Given the description of an element on the screen output the (x, y) to click on. 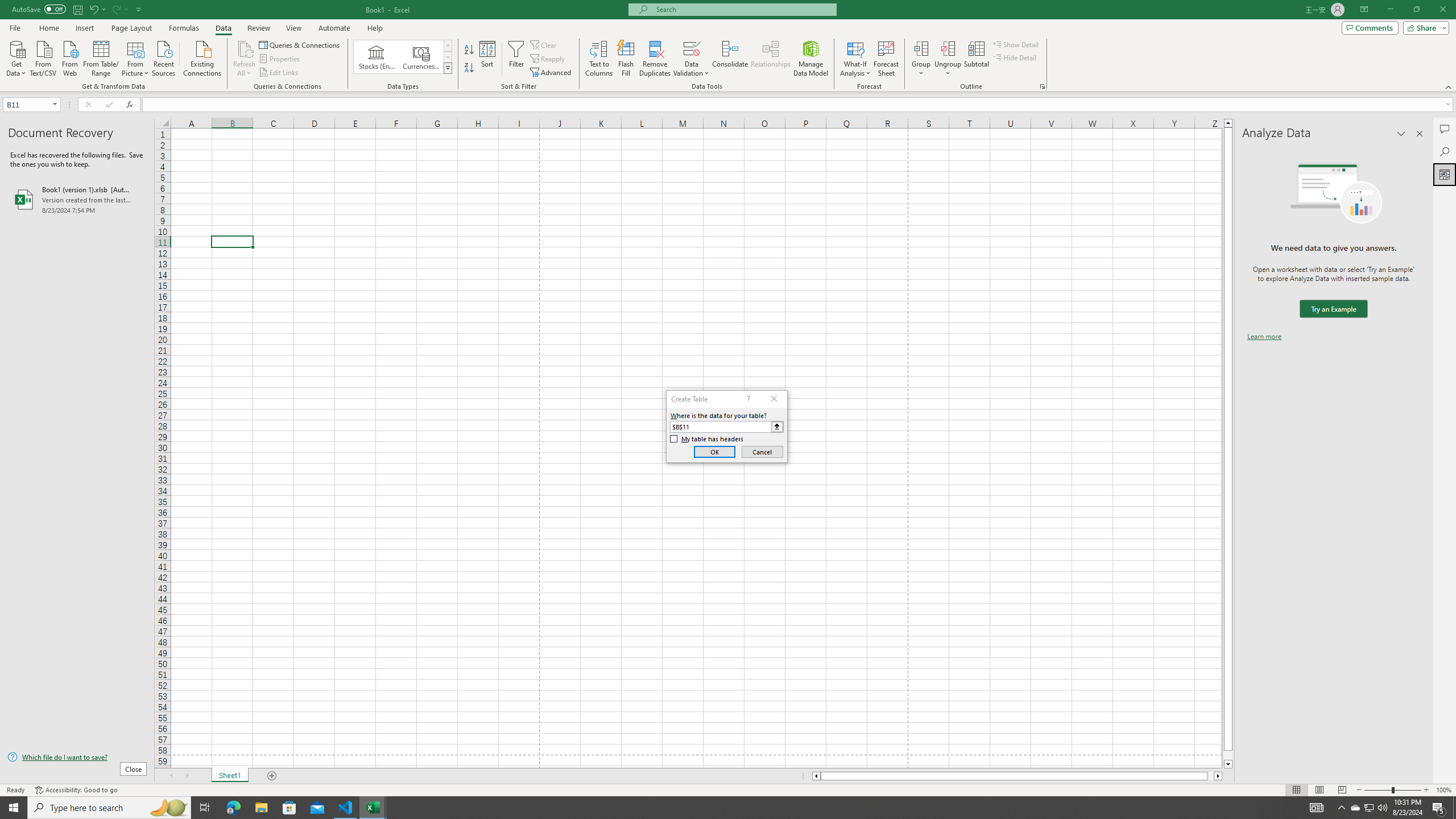
Column left (815, 775)
Consolidate... (729, 58)
Reapply (548, 58)
